Given the description of an element on the screen output the (x, y) to click on. 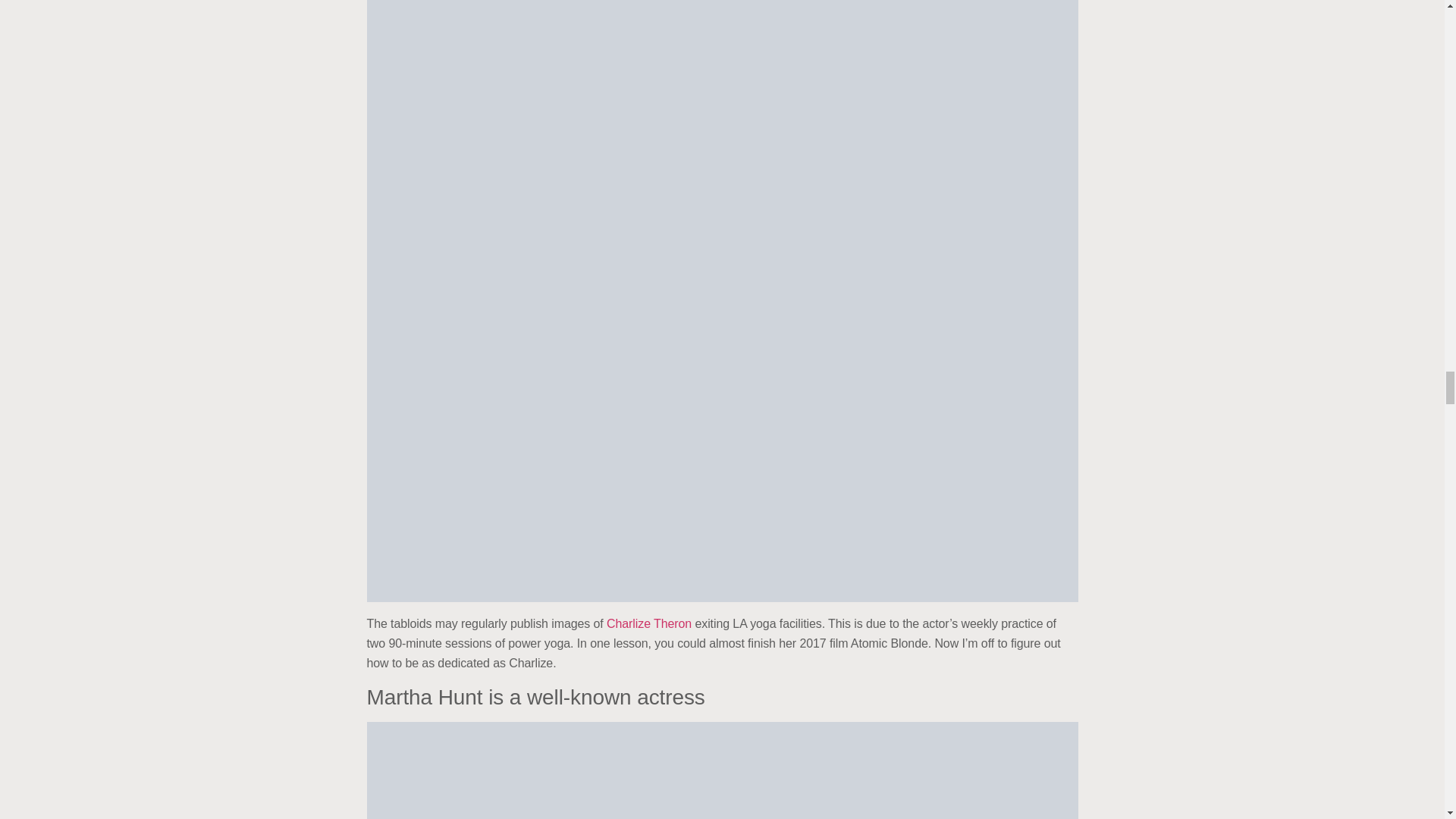
Charlize Theron (649, 623)
